Given the description of an element on the screen output the (x, y) to click on. 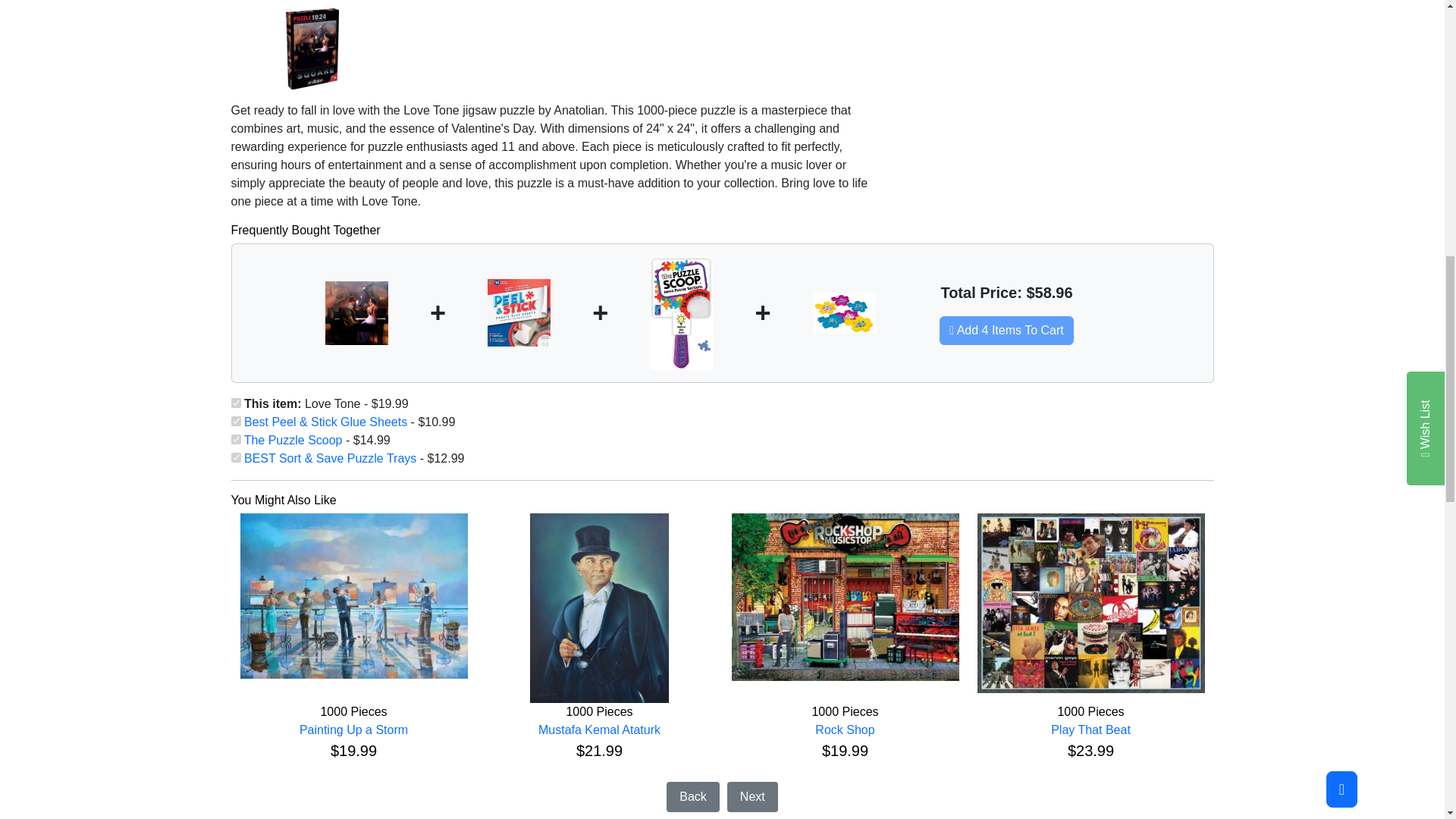
115502 (235, 420)
115504 (235, 457)
Play That Beat Collage Jigsaw Puzzle By Springbok (1090, 602)
123029 (235, 402)
145265 (235, 439)
Rock Shop Music Jigsaw Puzzle By Eurographics (844, 596)
Painting Up a Storm People Jigsaw Puzzle By Anatolian (353, 595)
